Given the description of an element on the screen output the (x, y) to click on. 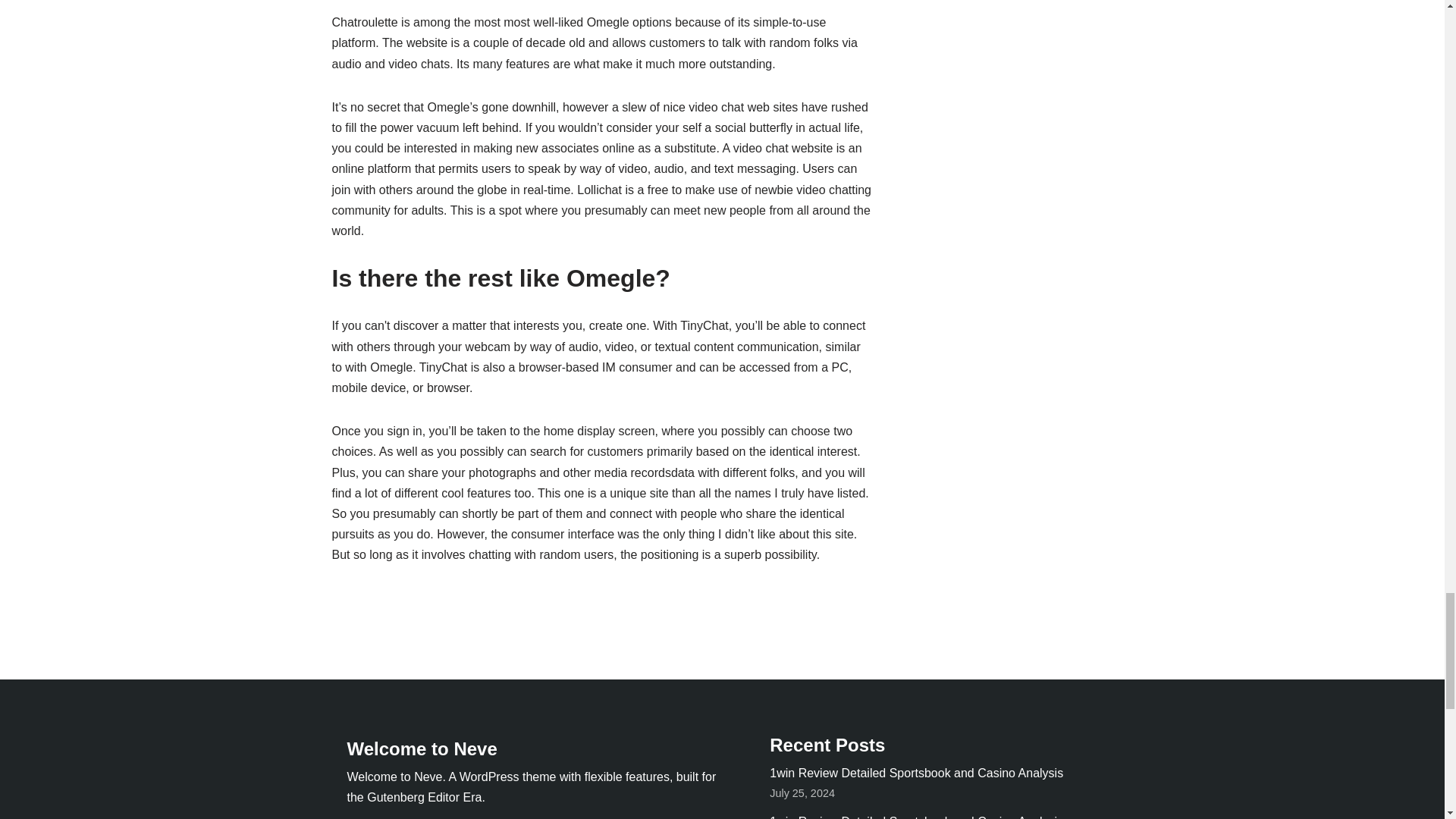
1win Review Detailed Sportsbook and Casino Analysis (916, 816)
1win Review Detailed Sportsbook and Casino Analysis (916, 772)
